Given the description of an element on the screen output the (x, y) to click on. 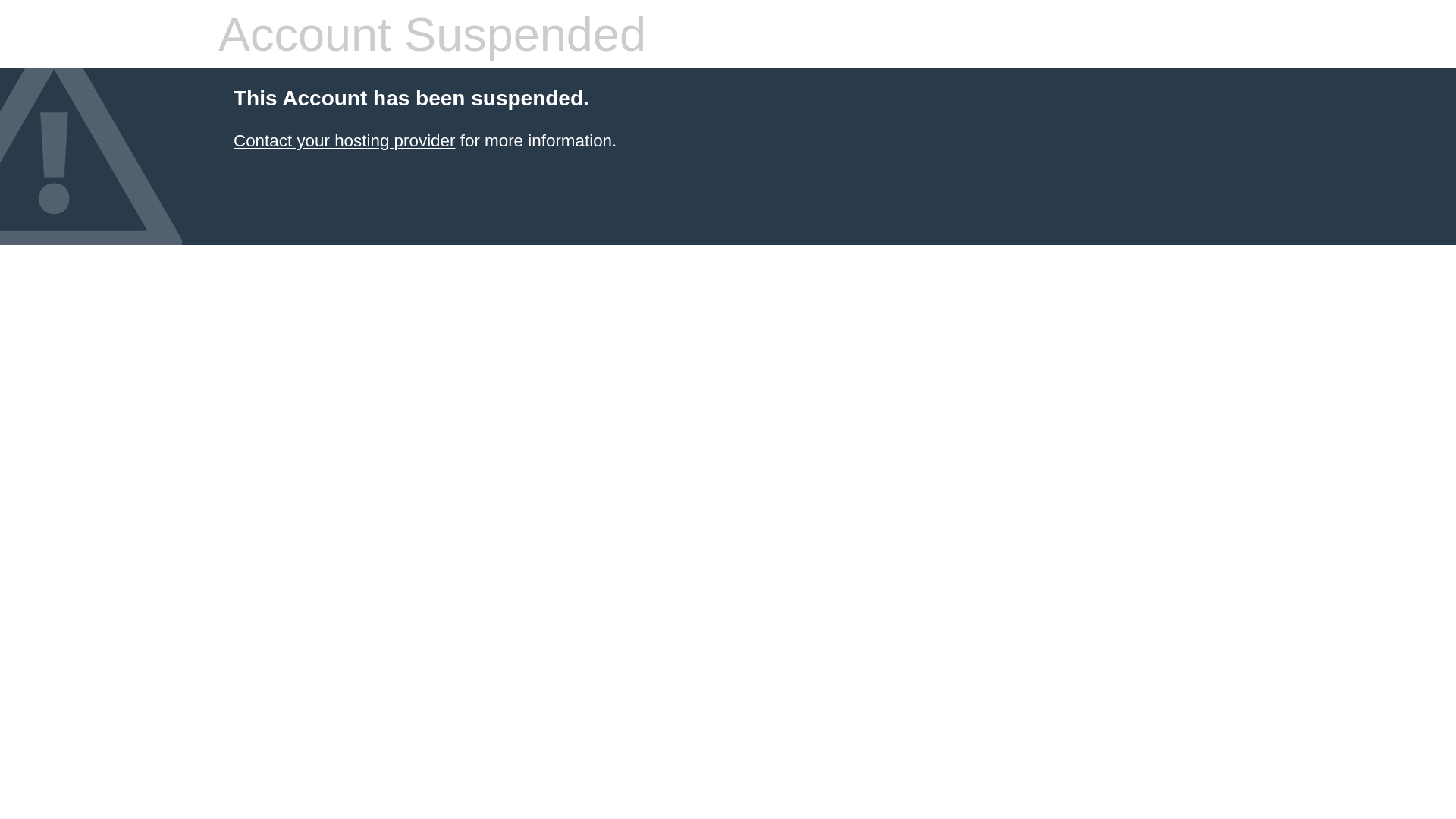
Contact your hosting provider Element type: text (344, 140)
